Given the description of an element on the screen output the (x, y) to click on. 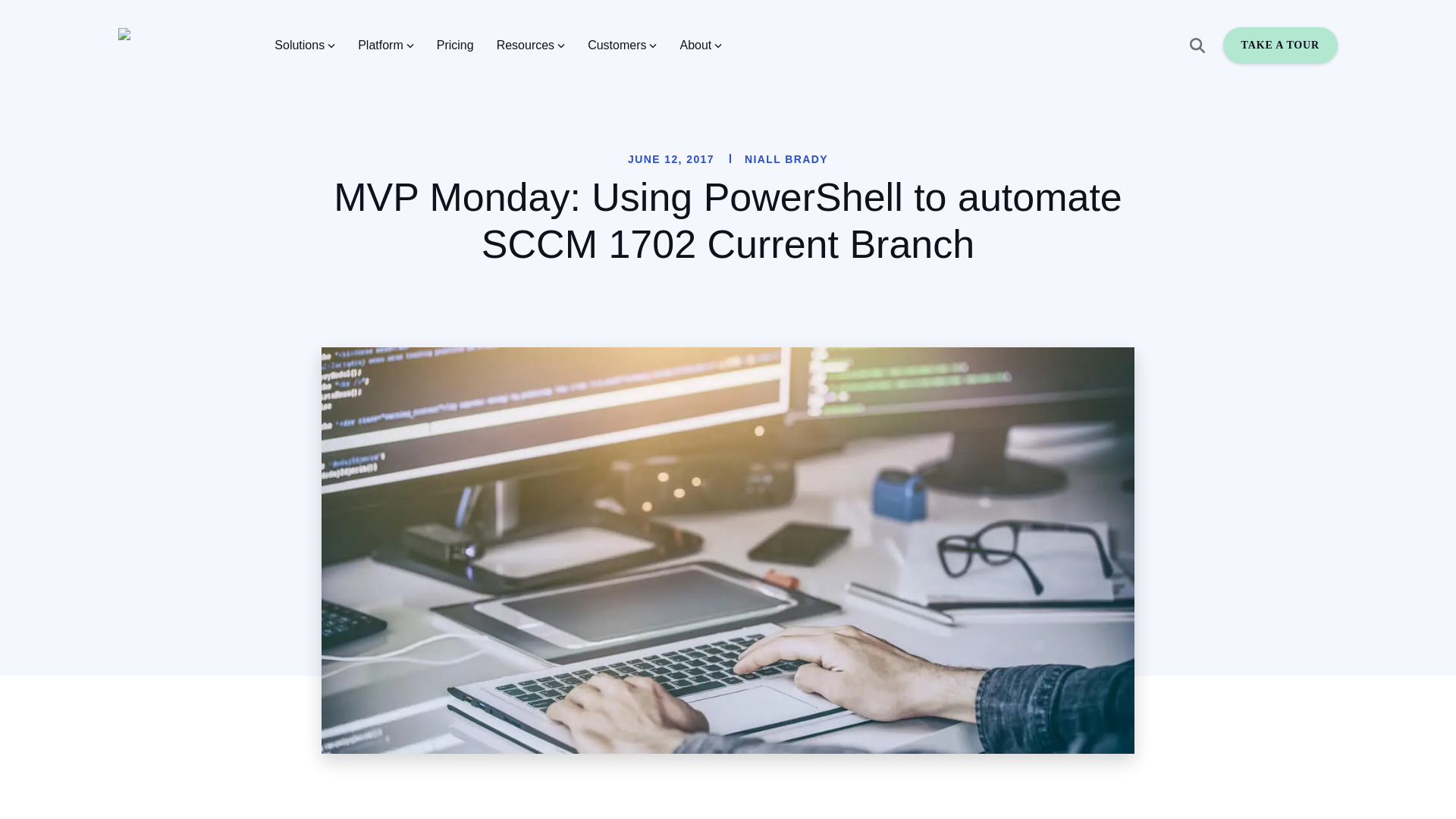
Pricing (455, 45)
1E Logo (156, 45)
TAKE A TOUR (1280, 45)
